Given the description of an element on the screen output the (x, y) to click on. 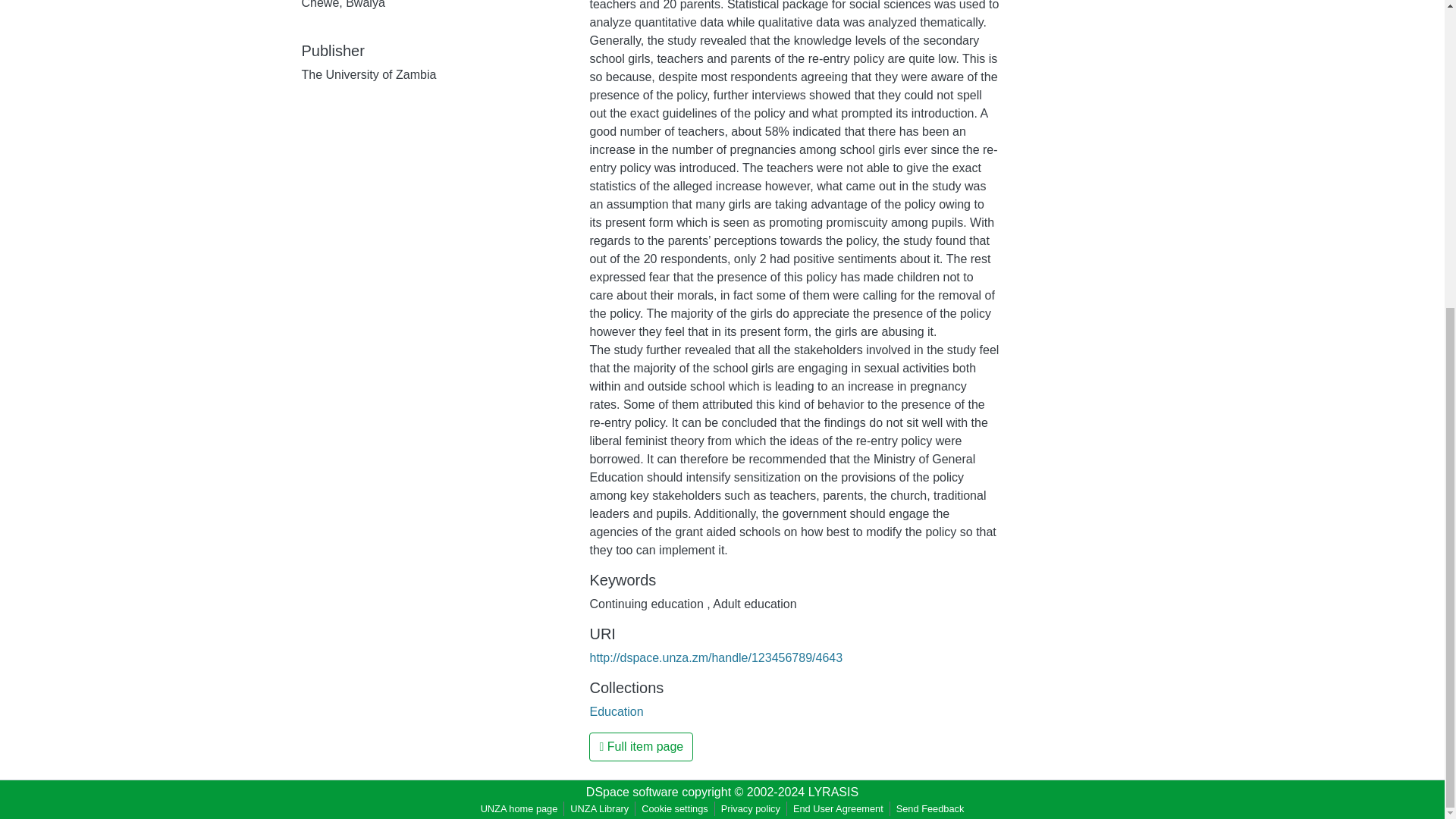
Send Feedback (930, 808)
LYRASIS (833, 791)
Privacy policy (750, 808)
End User Agreement (838, 808)
DSpace software (632, 791)
Education (616, 711)
UNZA Library (599, 808)
Cookie settings (674, 808)
Full item page (641, 746)
UNZA home page (519, 808)
